Given the description of an element on the screen output the (x, y) to click on. 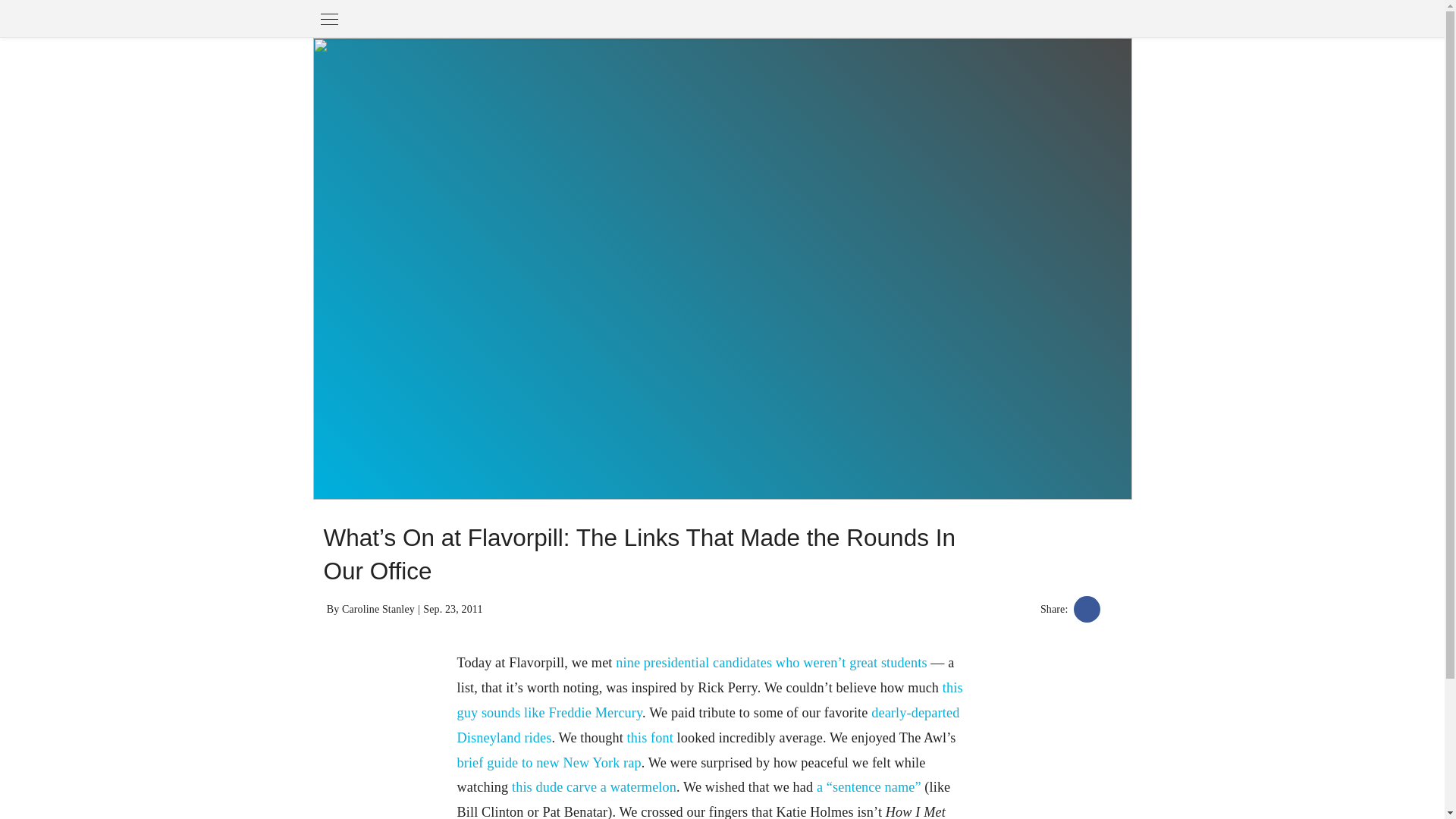
dearly-departed Disneyland rides (708, 725)
this dude carve a watermelon (594, 786)
Caroline Stanley (378, 609)
this guy sounds like Freddie Mercury (709, 700)
brief guide to new New York rap (548, 762)
Flavorwire (447, 18)
this font (649, 737)
